Given the description of an element on the screen output the (x, y) to click on. 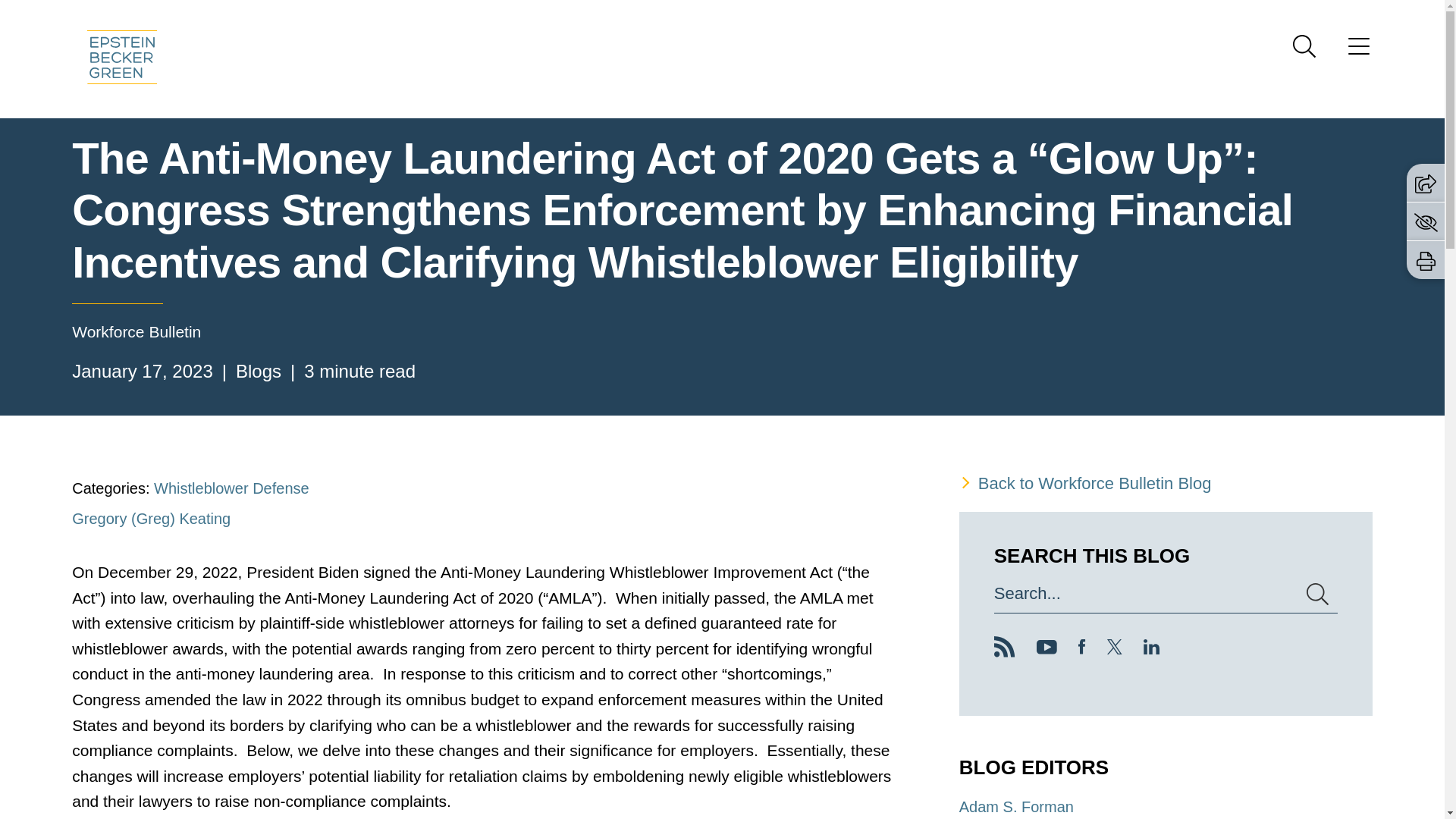
RSS (1004, 646)
Whistleblower Defense (231, 487)
RSS (1004, 651)
Twitter (1114, 648)
Adam S. Forman (1016, 806)
Print (1425, 261)
Search (1304, 46)
Share (1425, 183)
Menu (673, 15)
Share (1425, 182)
